Given the description of an element on the screen output the (x, y) to click on. 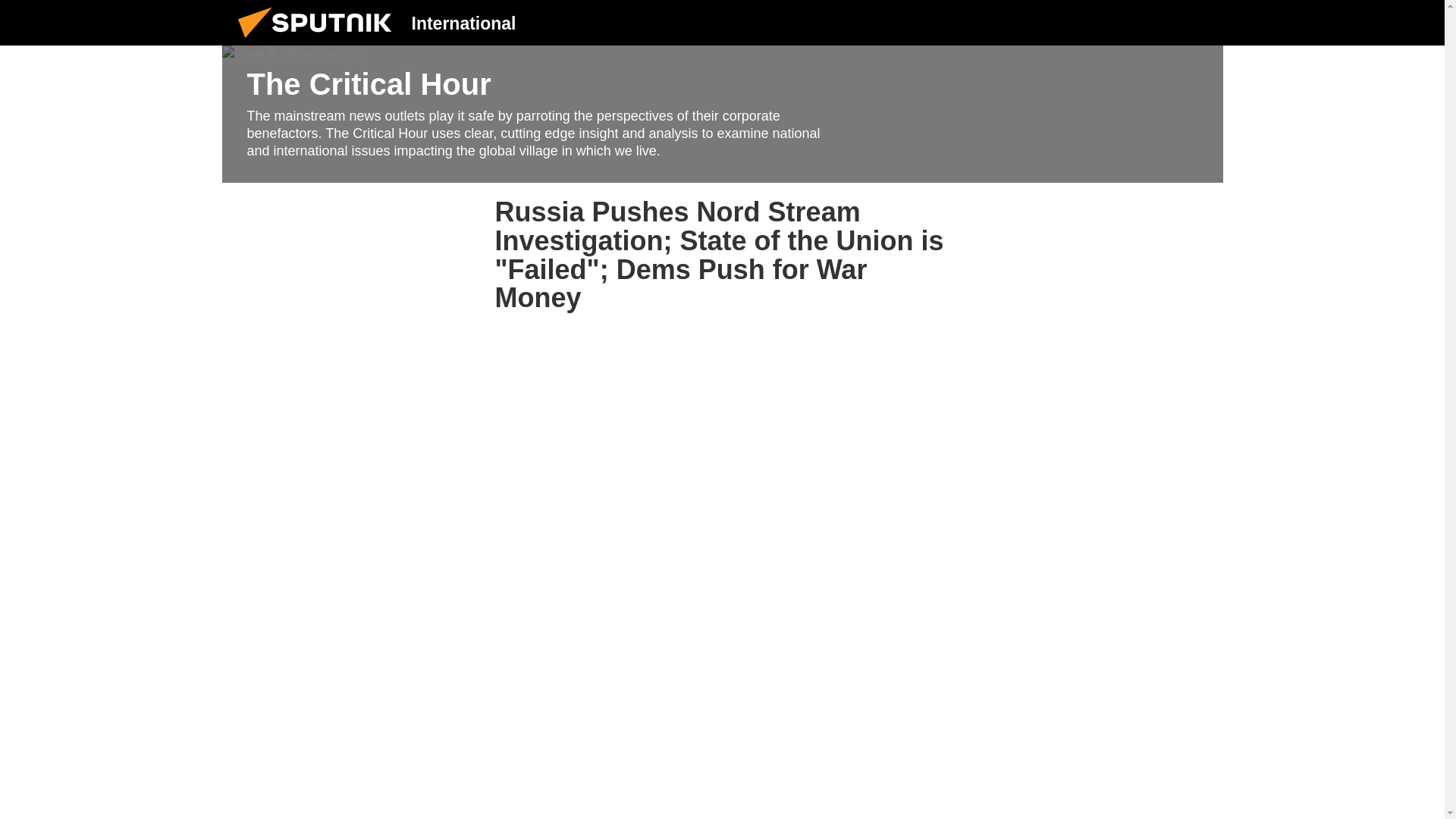
Authorization (1123, 22)
Sputnik International (319, 41)
Chats (1199, 22)
